Given the description of an element on the screen output the (x, y) to click on. 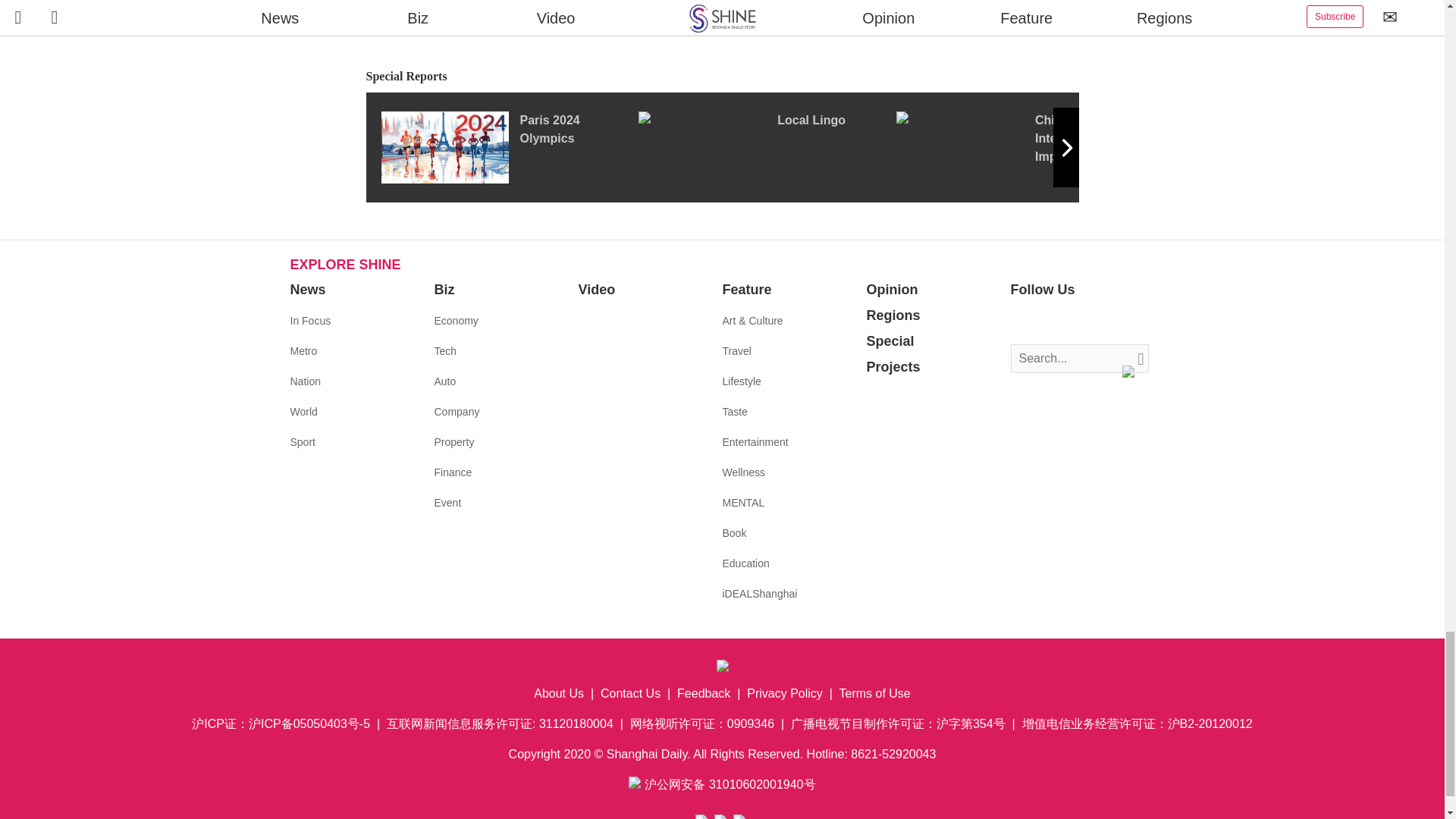
Follow us on Youtube (1090, 321)
Special Reports (721, 76)
News (306, 289)
China International Import Expo (1024, 146)
Local Lingo (767, 146)
Nation (304, 381)
Follow us on Instagram (1067, 321)
Follow us on Wechat (1112, 321)
World (303, 411)
Follow us on Twitter (1044, 321)
Follow us on Facebook (1021, 321)
In Focus (309, 320)
Metro (303, 350)
Paris 2024 Olympics (508, 146)
